Given the description of an element on the screen output the (x, y) to click on. 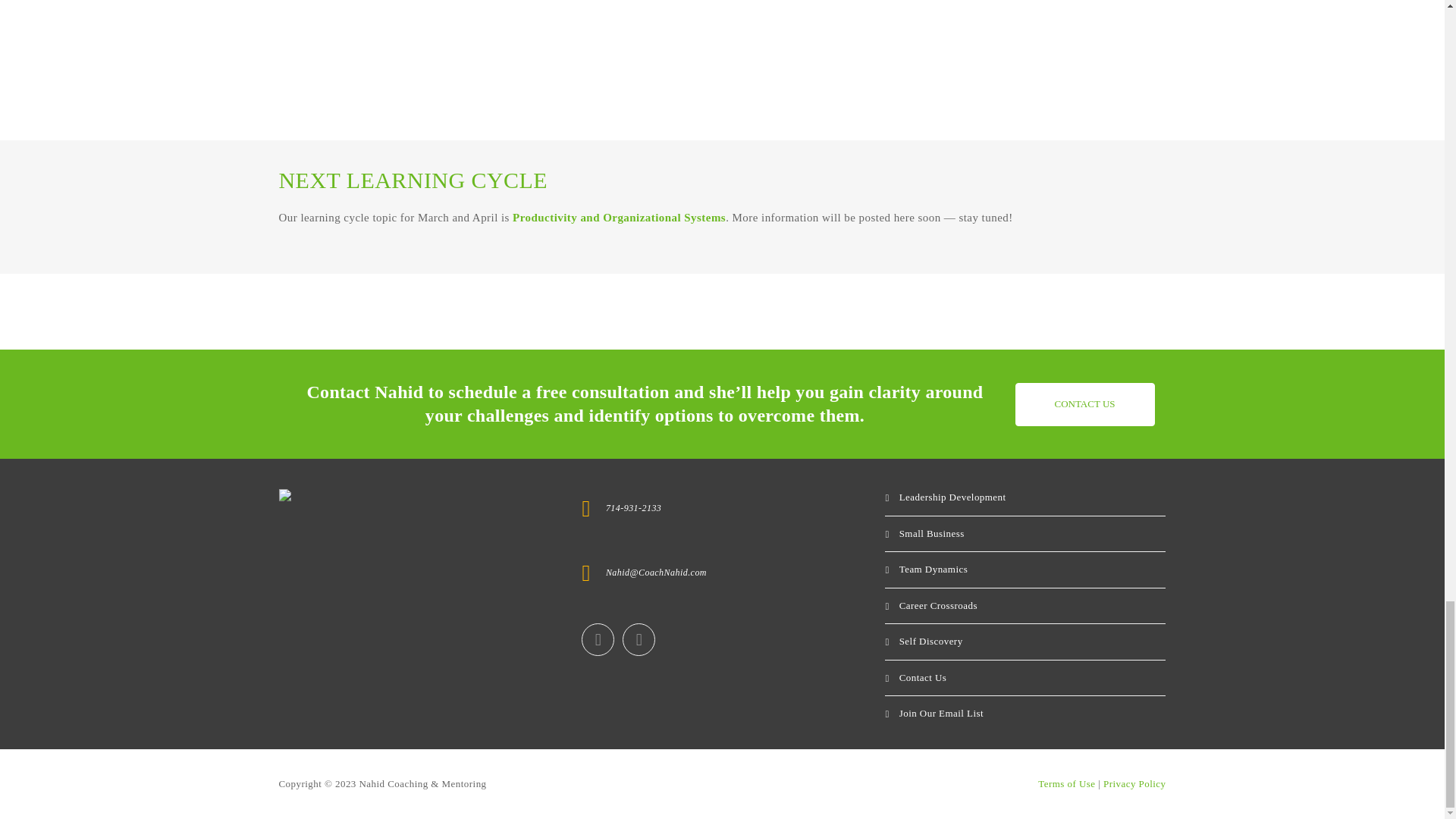
Values versus Needs (949, 56)
LinkedIn (597, 639)
Contact Us (1084, 404)
YouTube (639, 639)
